Given the description of an element on the screen output the (x, y) to click on. 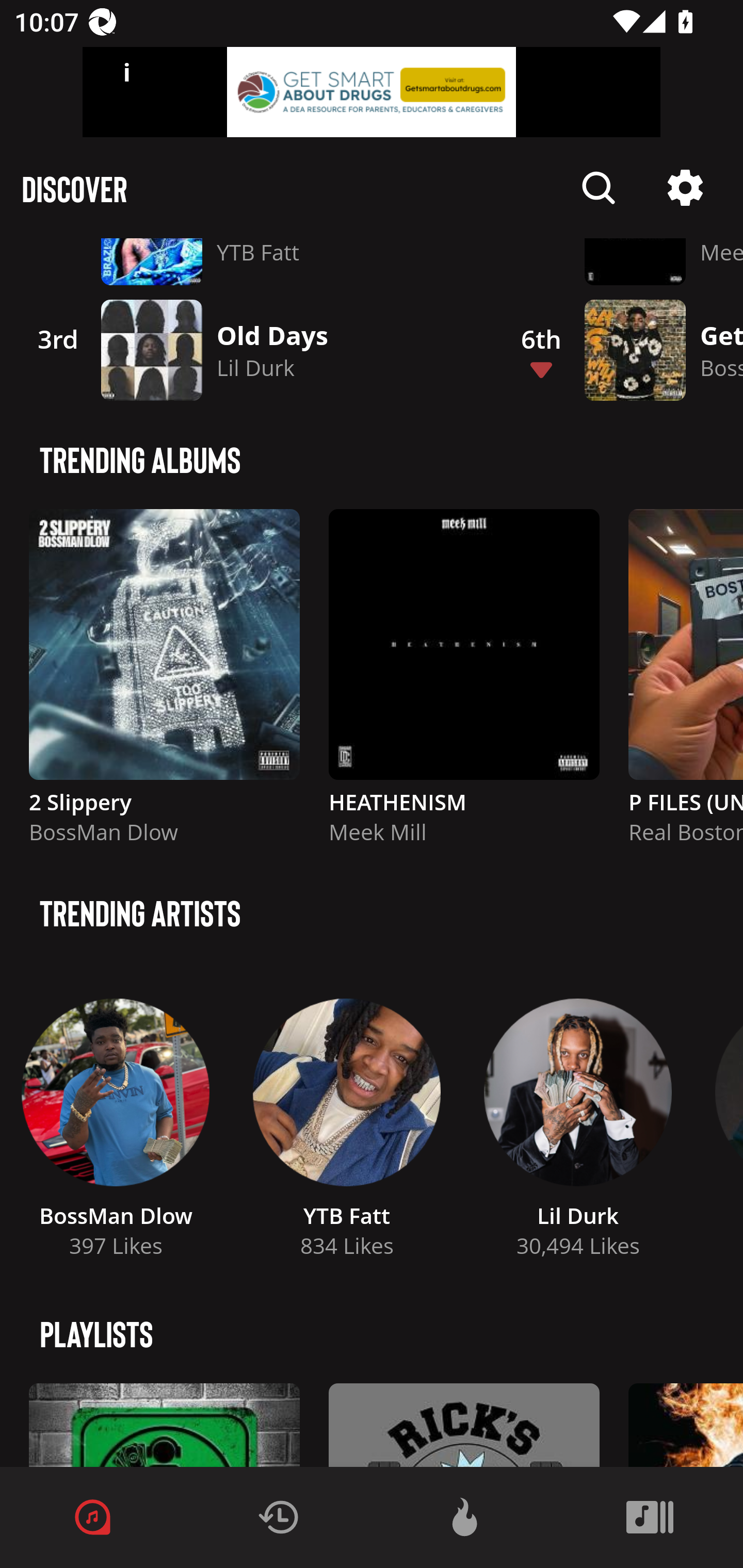
Description (598, 188)
Description (684, 188)
3rd Description Old Days Lil Durk (248, 350)
Description 2 Slippery BossMan Dlow (164, 684)
Description HEATHENISM Meek Mill (463, 684)
Description BossMan Dlow 397 Likes (115, 1121)
Description YTB Fatt 834 Likes (346, 1121)
Description Lil Durk 30,494 Likes (577, 1121)
